Given the description of an element on the screen output the (x, y) to click on. 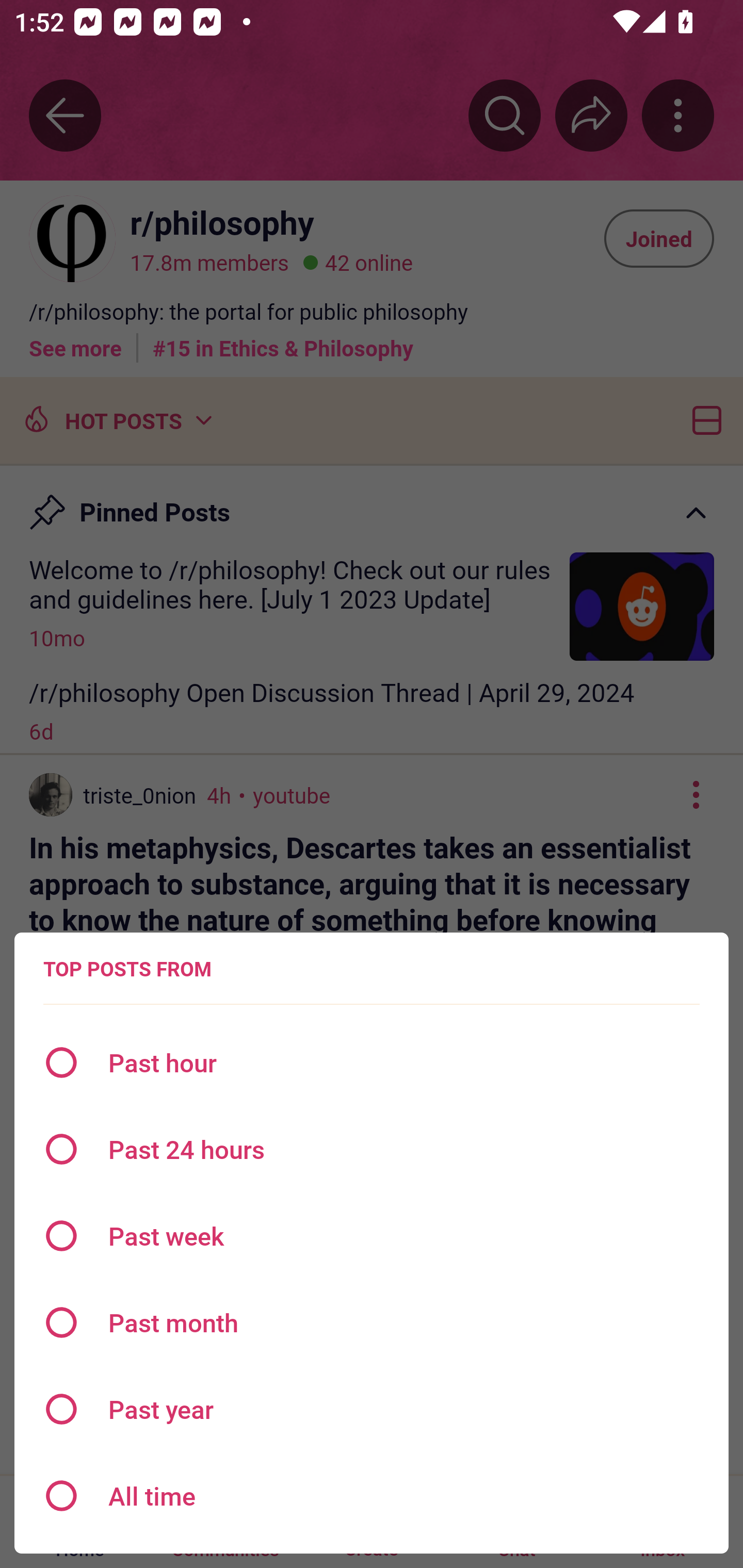
TOP POSTS FROM (127, 968)
Past hour (371, 1062)
Past 24 hours (371, 1149)
Past week (371, 1236)
Past month (371, 1322)
Past year (371, 1408)
All time (371, 1495)
